Given the description of an element on the screen output the (x, y) to click on. 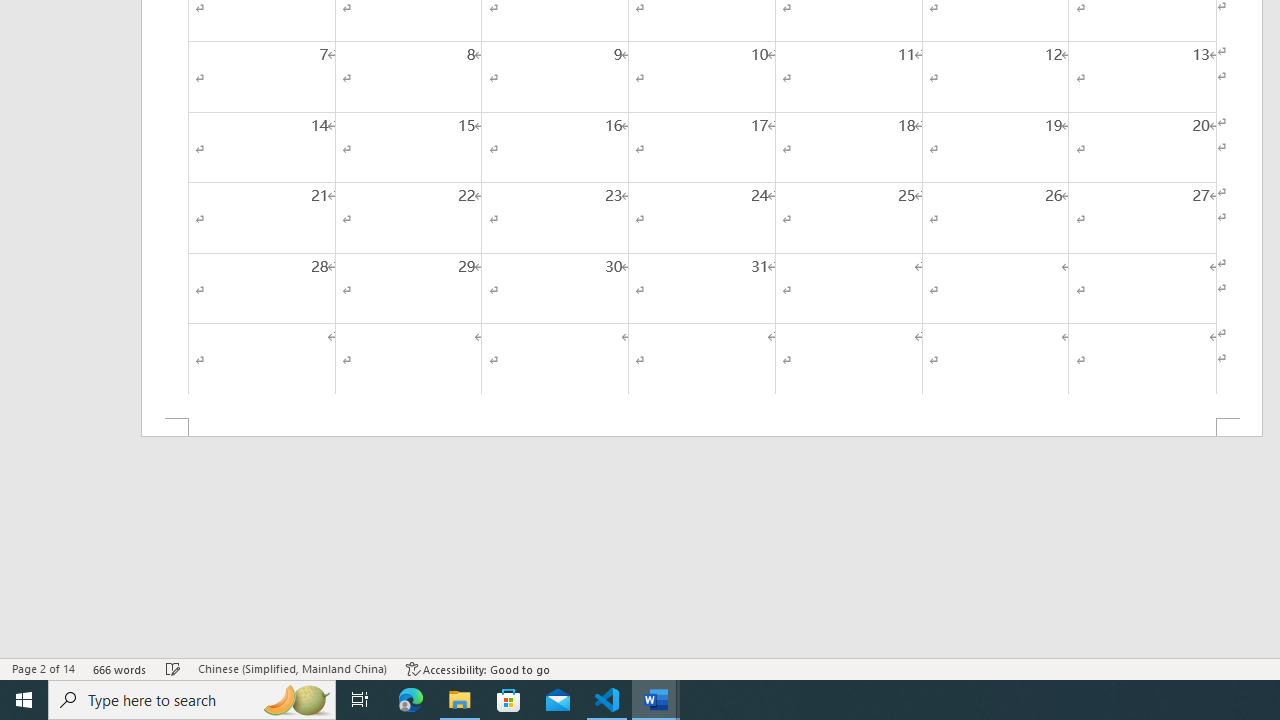
Word Count 666 words (119, 668)
Accessibility Checker Accessibility: Good to go (478, 668)
Spelling and Grammar Check Checking (173, 668)
Page Number Page 2 of 14 (43, 668)
Footer -Section 1- (701, 427)
Language Chinese (Simplified, Mainland China) (292, 668)
